Given the description of an element on the screen output the (x, y) to click on. 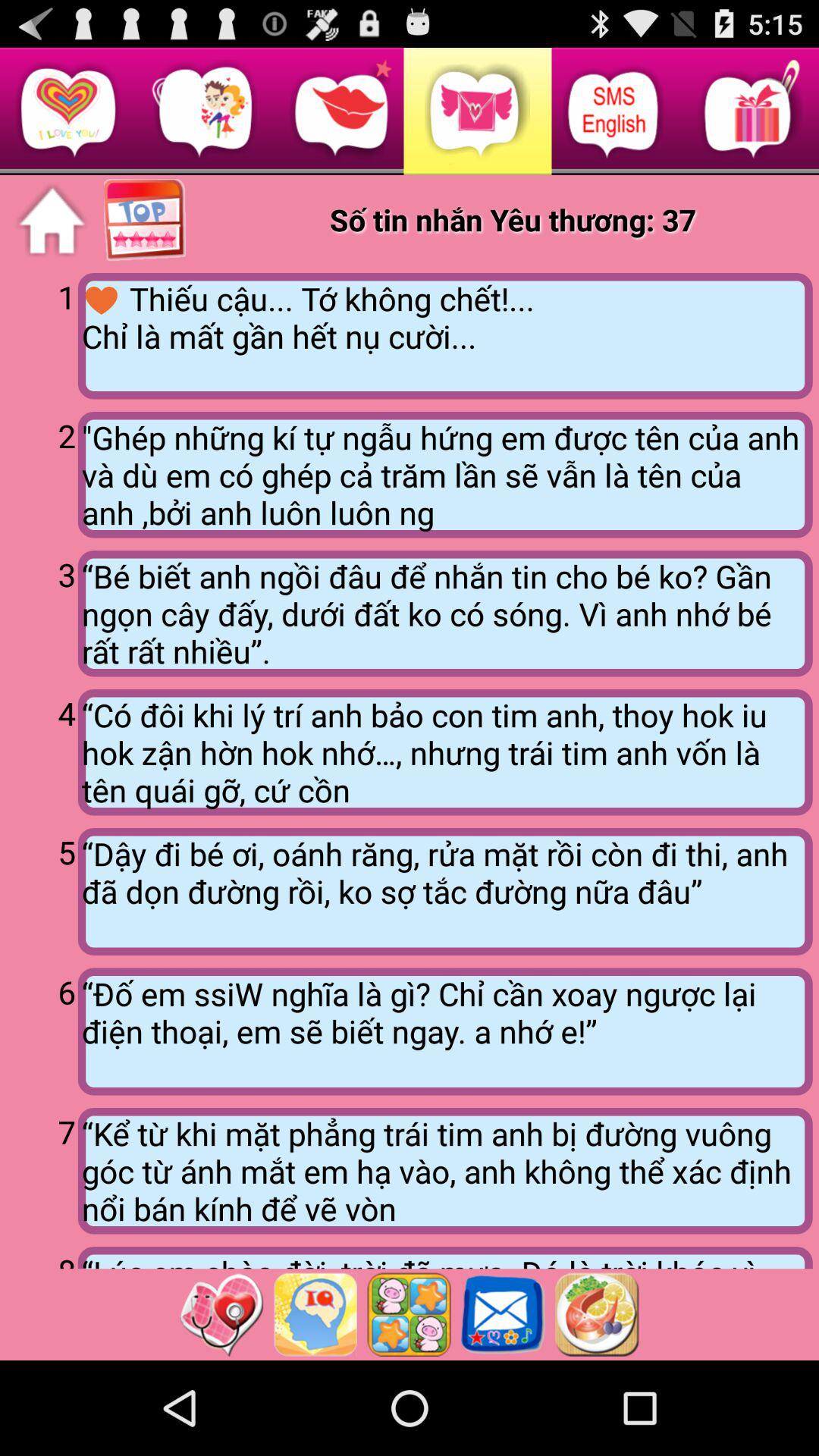
open icon above 2 (41, 334)
